Given the description of an element on the screen output the (x, y) to click on. 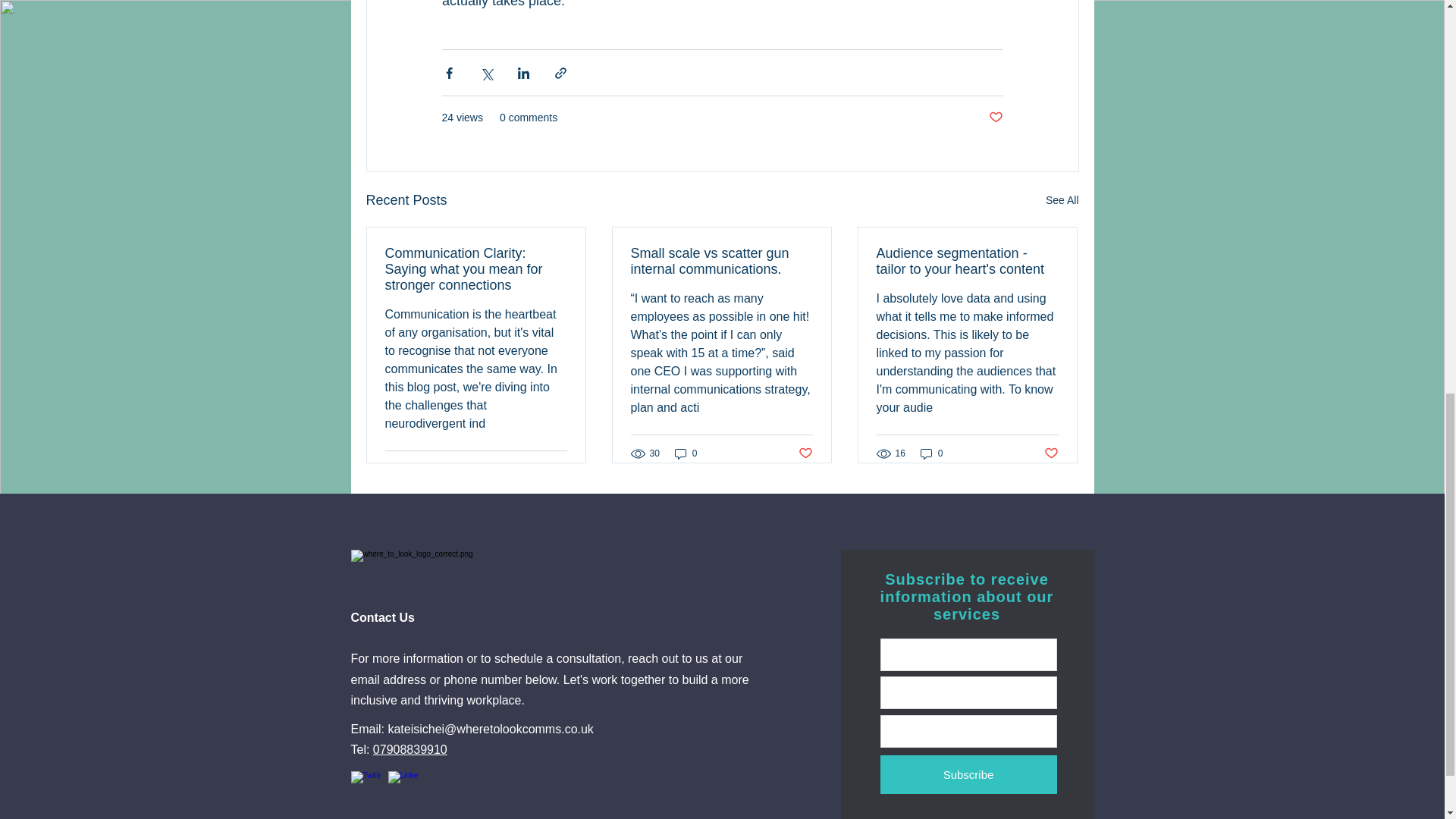
Audience segmentation - tailor to your heart's content (967, 261)
See All (1061, 200)
Subscribe (968, 774)
Post not marked as liked (995, 117)
0 (931, 452)
0 (685, 452)
Small scale vs scatter gun internal communications. (721, 261)
Post not marked as liked (1050, 453)
Post not marked as liked (804, 453)
Post not marked as liked (558, 468)
07908839910 (409, 748)
